Given the description of an element on the screen output the (x, y) to click on. 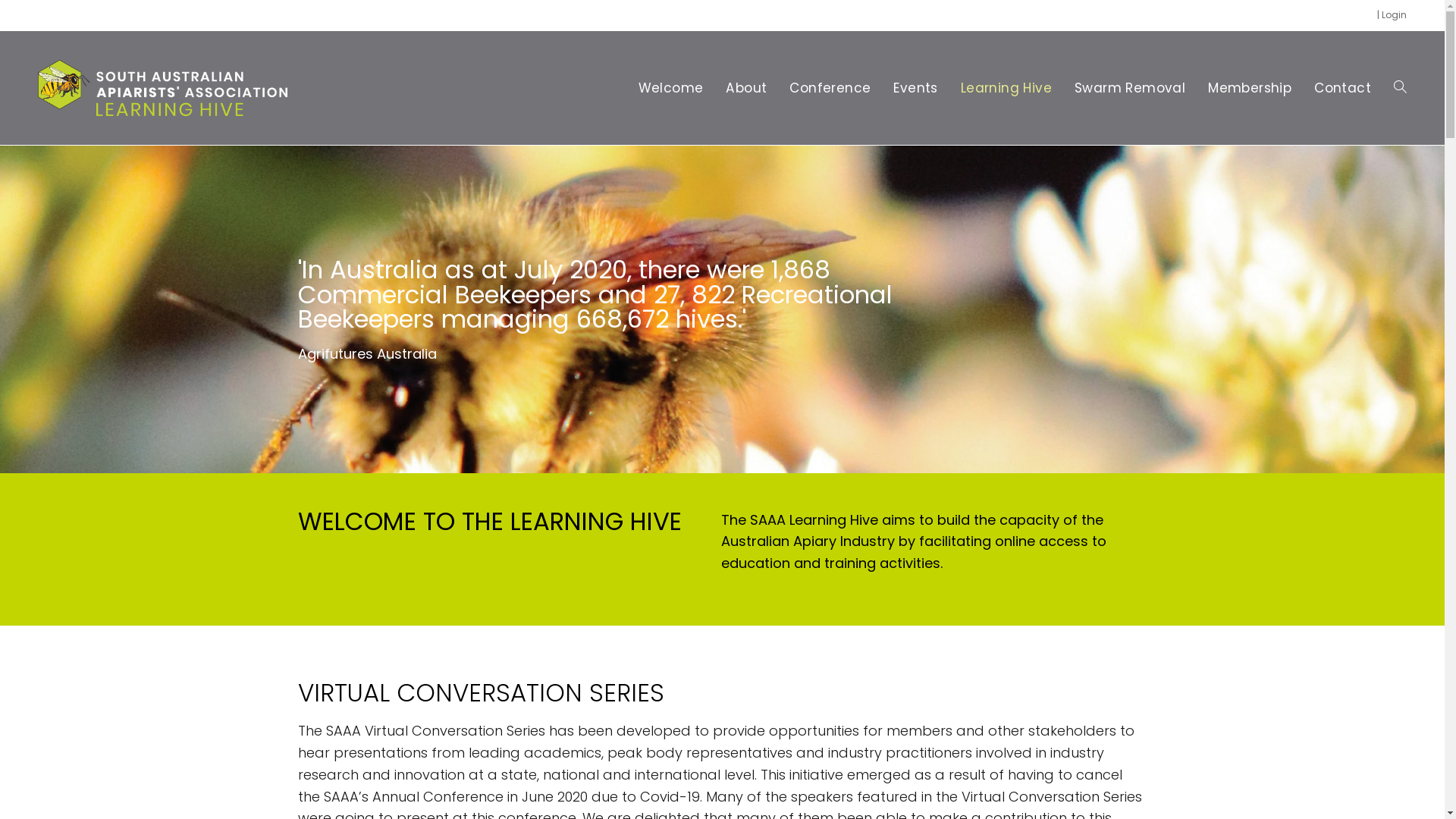
Welcome Element type: text (671, 87)
Conference Element type: text (829, 87)
Contact Element type: text (1342, 87)
Learning Hive Element type: text (1006, 87)
Events Element type: text (914, 87)
Swarm Removal Element type: text (1129, 87)
About Element type: text (746, 87)
Membership Element type: text (1249, 87)
Login Element type: text (1393, 14)
